Given the description of an element on the screen output the (x, y) to click on. 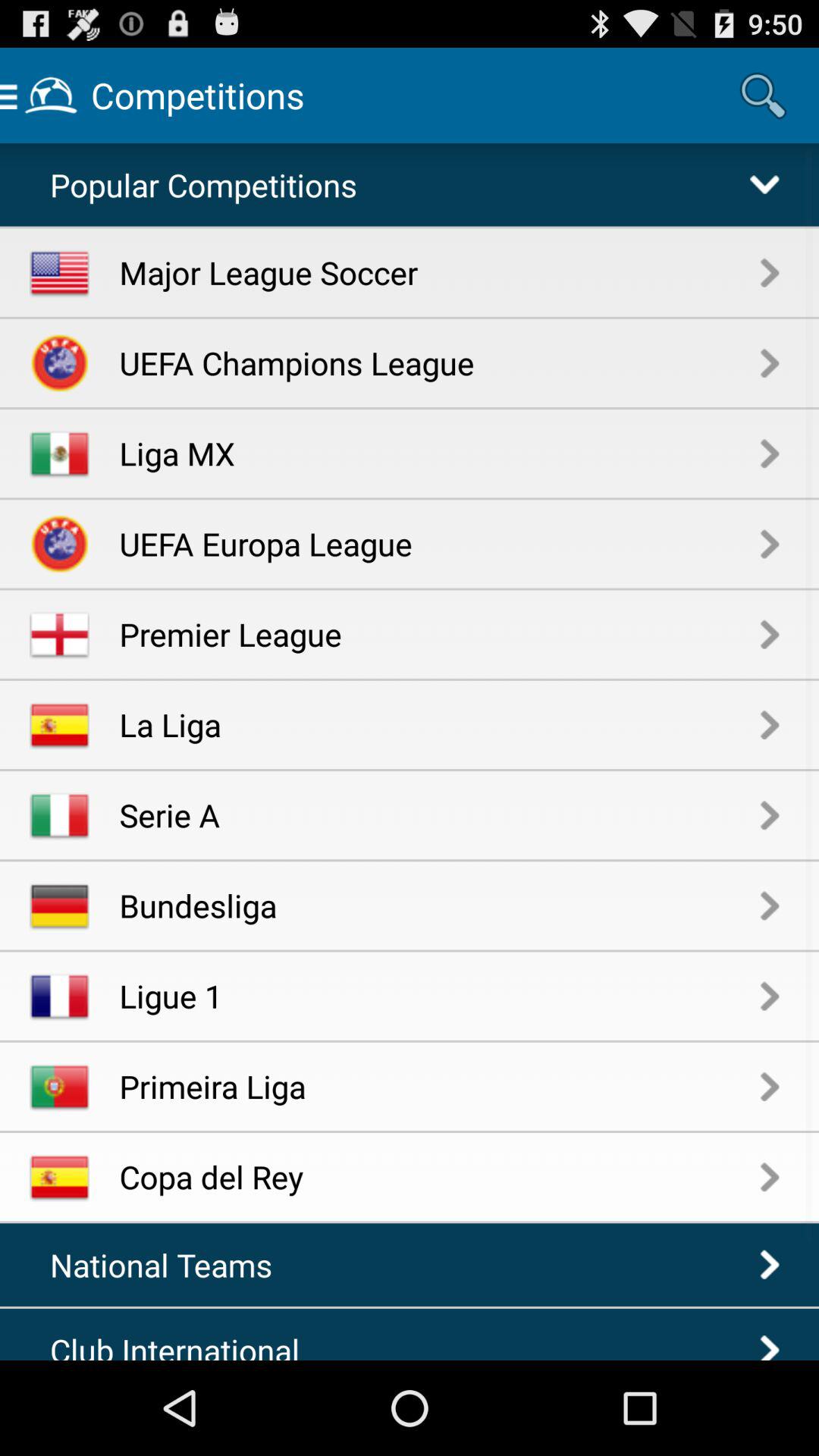
scroll to national teams   item (169, 1264)
